Given the description of an element on the screen output the (x, y) to click on. 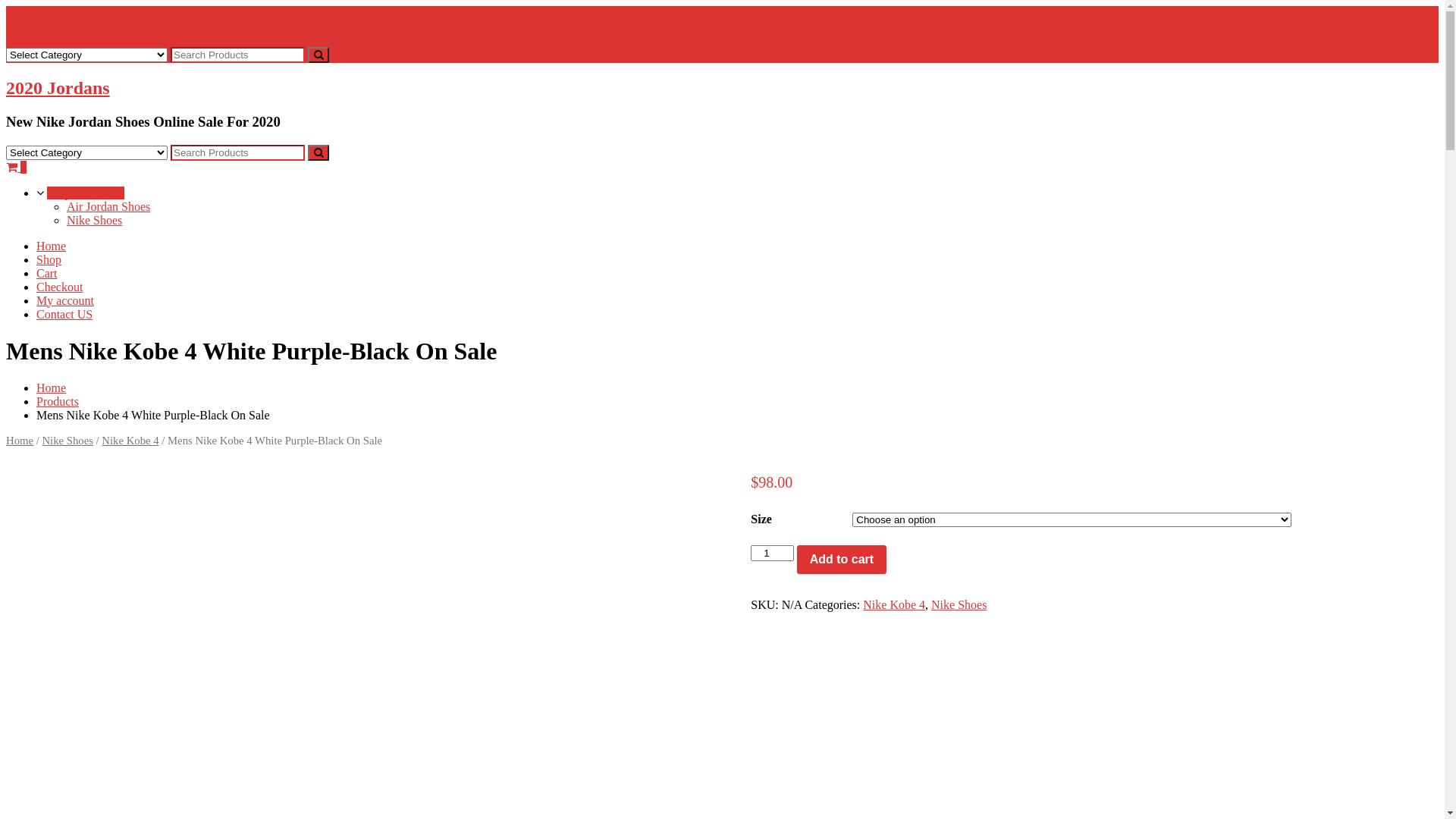
Nike Kobe 4 Element type: text (893, 604)
Skip to content Element type: text (6, 6)
Add to cart Element type: text (841, 559)
Home Element type: text (50, 245)
Contact US Element type: text (64, 313)
0 Element type: text (16, 25)
Nike Shoes Element type: text (66, 440)
0 Element type: text (16, 166)
Login / Register Element type: text (52, 12)
My account Element type: text (65, 300)
Home Element type: text (19, 440)
Qty Element type: hover (771, 553)
Nike Kobe 4 Element type: text (129, 440)
Checkout Element type: text (59, 286)
Home Element type: text (50, 387)
Nike Shoes Element type: text (94, 219)
Products Element type: text (57, 401)
Search Element type: text (318, 54)
Search Element type: text (318, 152)
Shop Element type: text (48, 259)
Air Jordan Shoes Element type: text (108, 206)
Cart Element type: text (46, 272)
Special Menu Element type: text (85, 192)
2020 Jordans Element type: text (57, 87)
Nike Shoes Element type: text (958, 604)
